Given the description of an element on the screen output the (x, y) to click on. 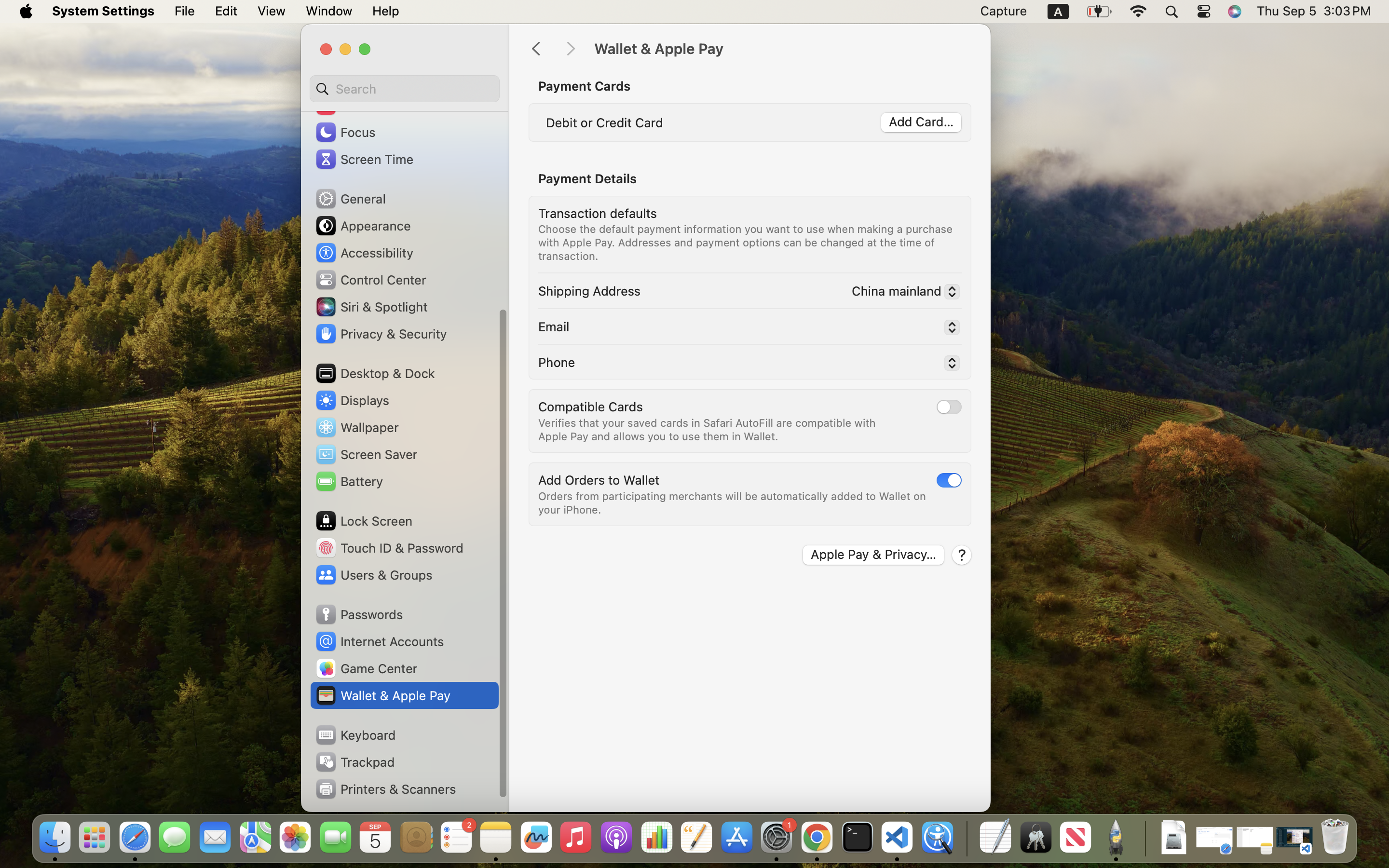
China mainland Element type: AXPopUpButton (901, 292)
Sound Element type: AXStaticText (346, 104)
Wallpaper Element type: AXStaticText (356, 426)
Game Center Element type: AXStaticText (365, 667)
Screen Time Element type: AXStaticText (363, 158)
